Given the description of an element on the screen output the (x, y) to click on. 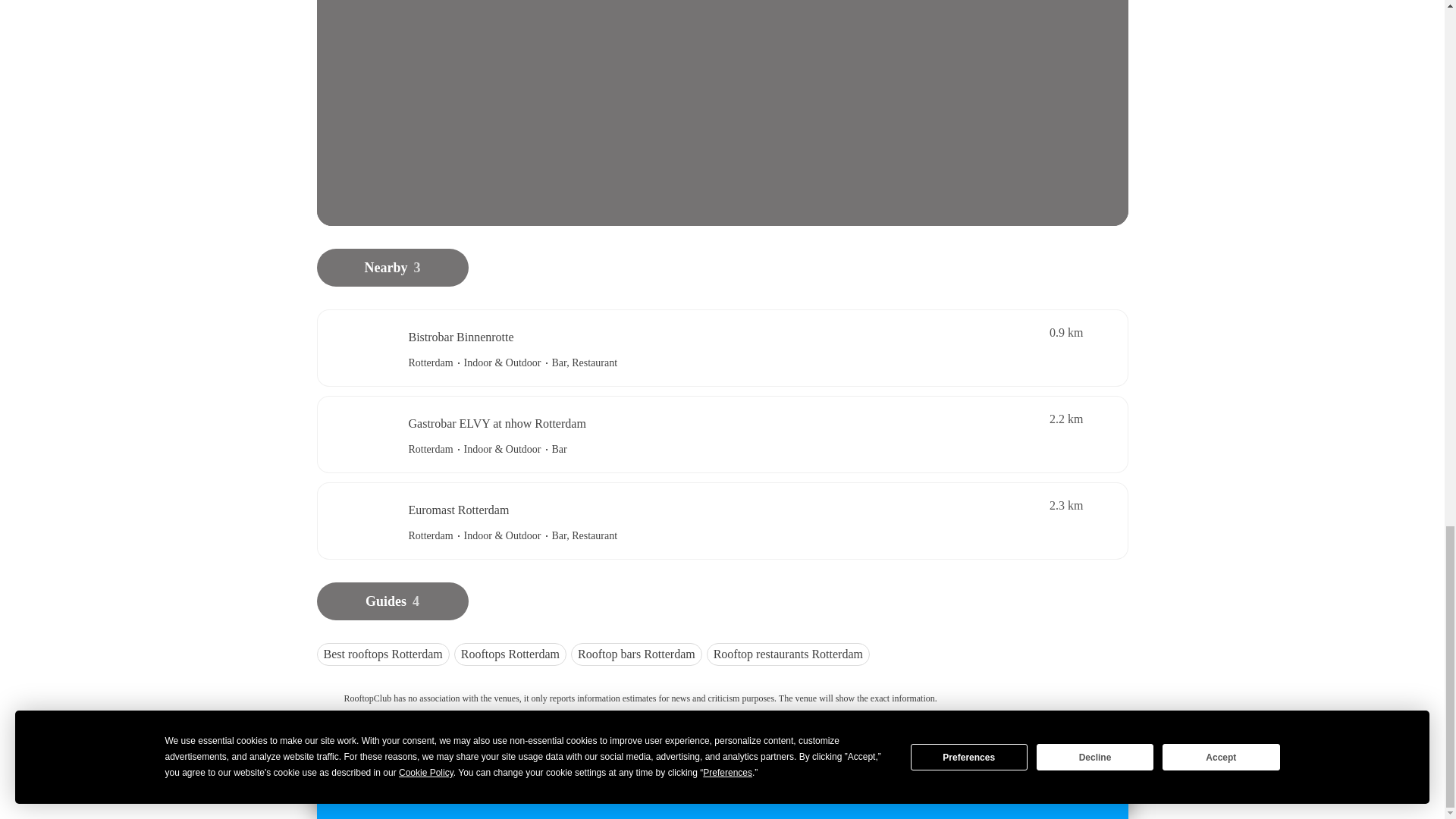
Best rooftops Rotterdam (385, 660)
Rooftop bars Rotterdam (638, 660)
Rooftops Rotterdam (512, 660)
Rooftop restaurants Rotterdam (790, 660)
